Given the description of an element on the screen output the (x, y) to click on. 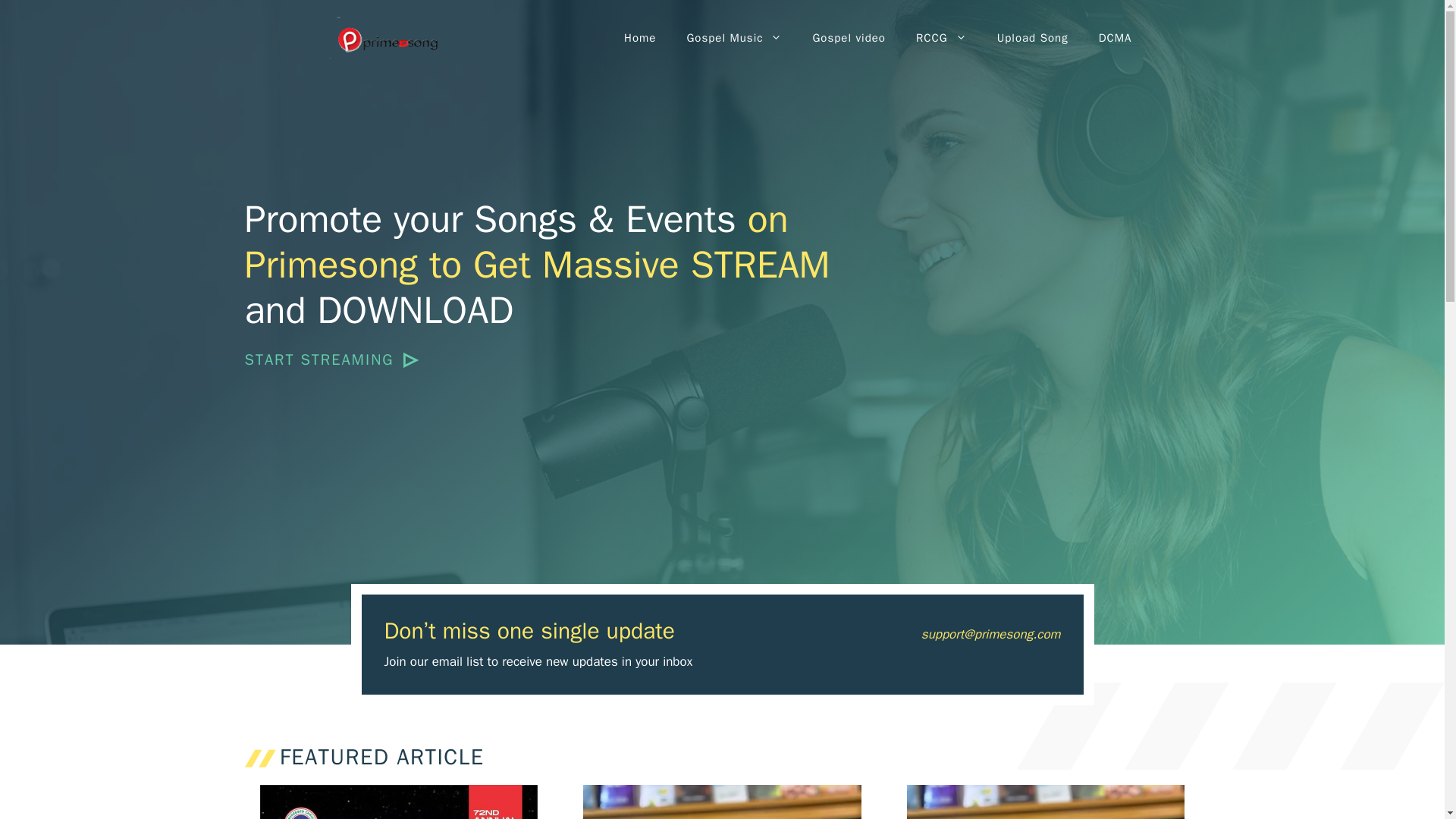
Upload Song (1032, 37)
DCMA (1115, 37)
Home (639, 37)
RCCG (941, 37)
START STREAMING (330, 359)
Gospel video (847, 37)
Gospel Music (733, 37)
